Given the description of an element on the screen output the (x, y) to click on. 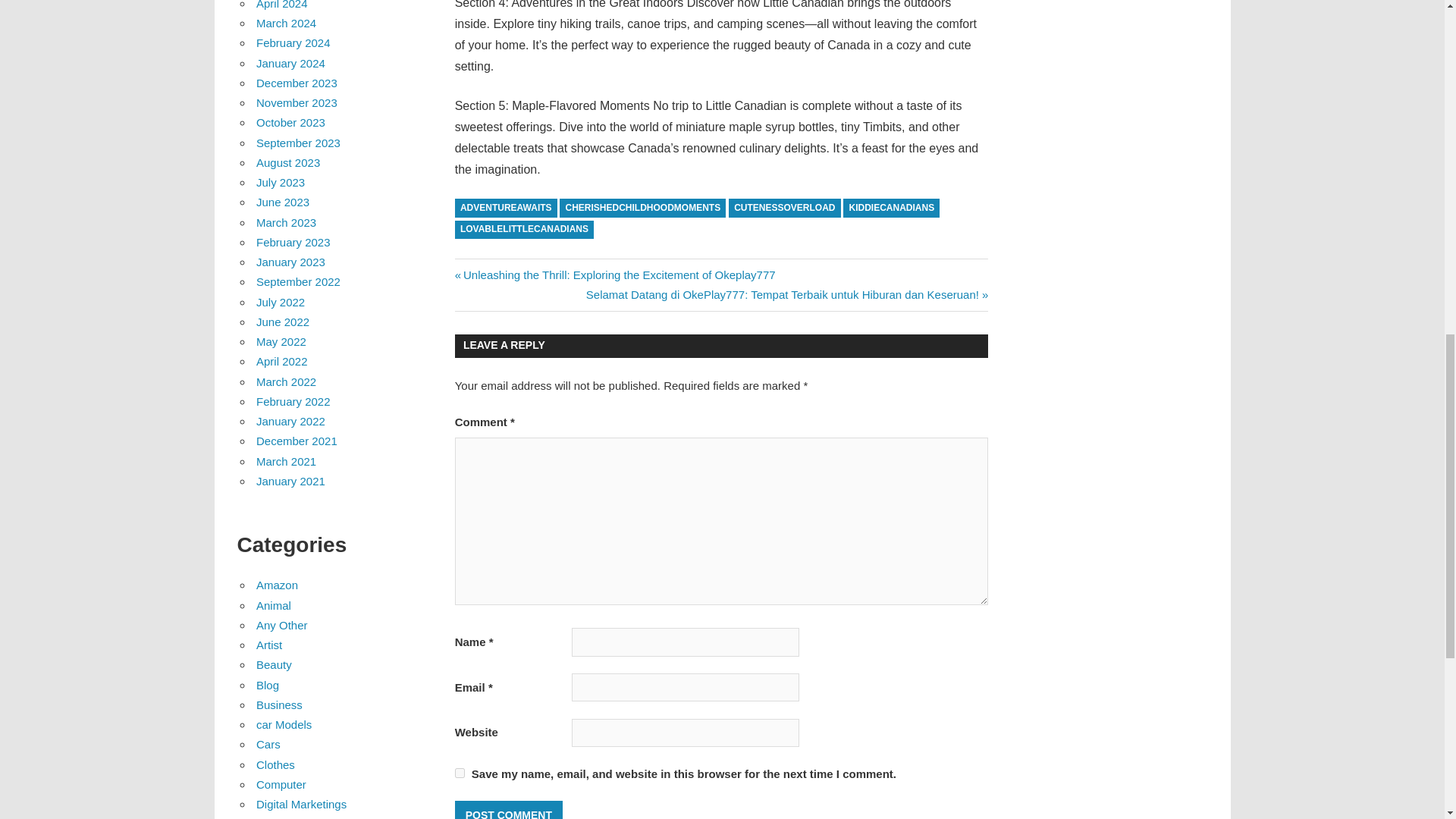
Post Comment (508, 809)
February 2023 (293, 241)
January 2024 (290, 62)
ADVENTUREAWAITS (505, 208)
October 2023 (290, 122)
CHERISHEDCHILDHOODMOMENTS (642, 208)
August 2023 (288, 162)
LOVABLELITTLECANADIANS (524, 229)
Post Comment (508, 809)
